Given the description of an element on the screen output the (x, y) to click on. 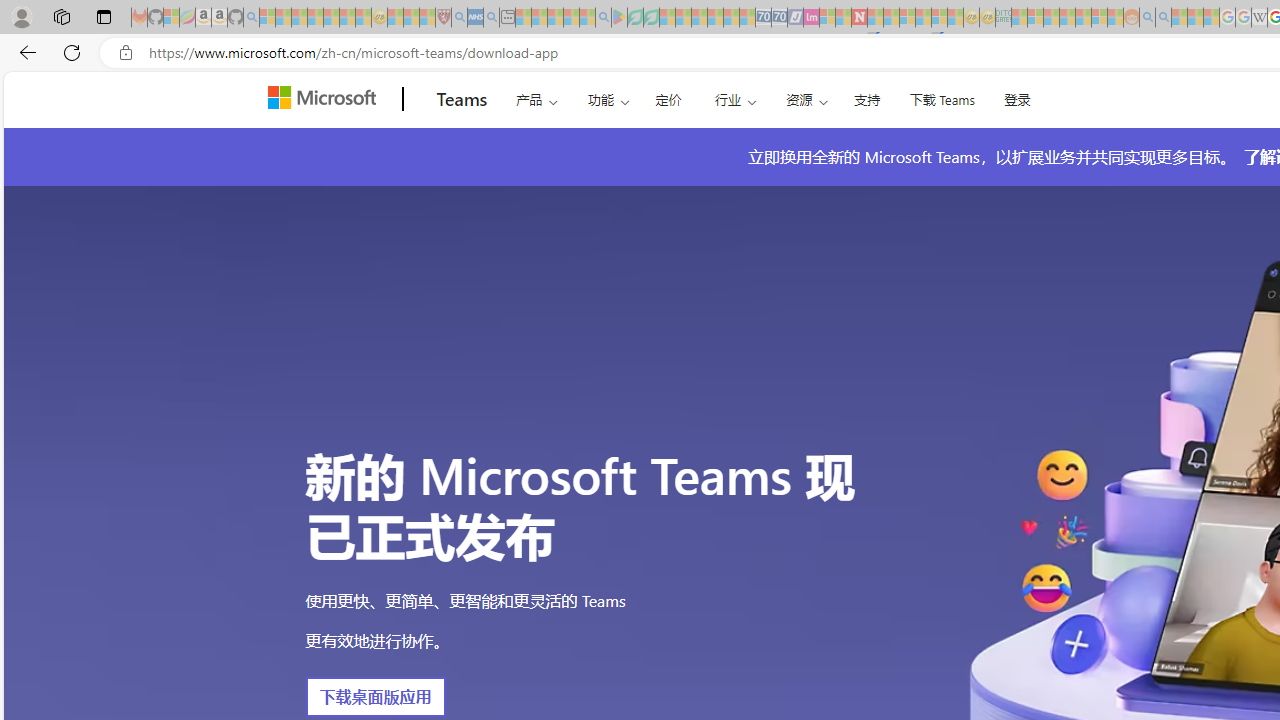
The Weather Channel - MSN - Sleeping (299, 17)
New Report Confirms 2023 Was Record Hot | Watch - Sleeping (331, 17)
